Given the description of an element on the screen output the (x, y) to click on. 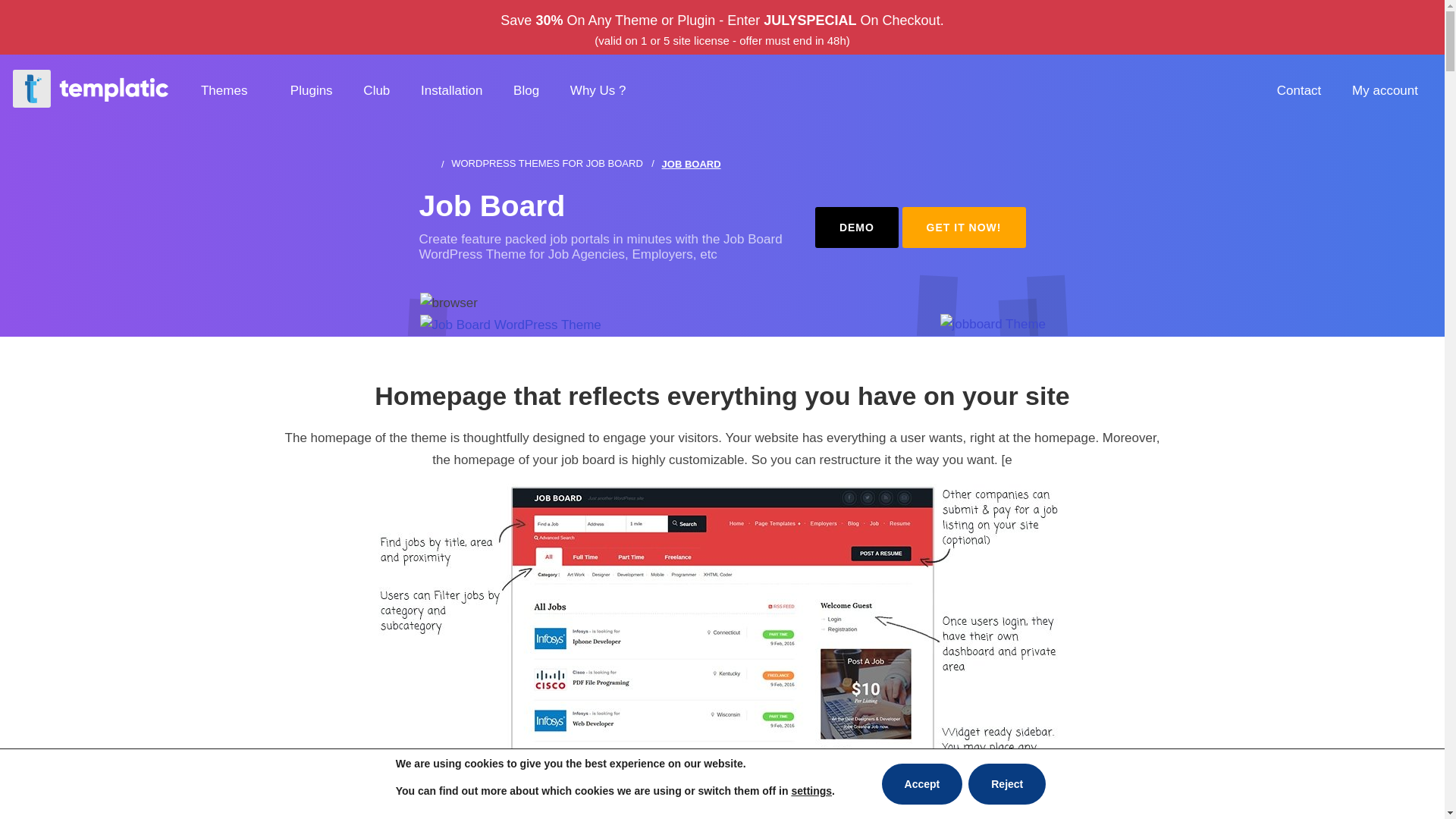
HOME (425, 163)
Themes (229, 88)
Contact (1299, 88)
DEMO (856, 227)
Why Us ? (603, 88)
Templatic (90, 88)
Plugins (311, 88)
Live Demo (856, 227)
My account (1385, 88)
WORDPRESS THEMES FOR JOB BOARD (547, 163)
GET IT NOW! (964, 227)
Installation (450, 88)
